Given the description of an element on the screen output the (x, y) to click on. 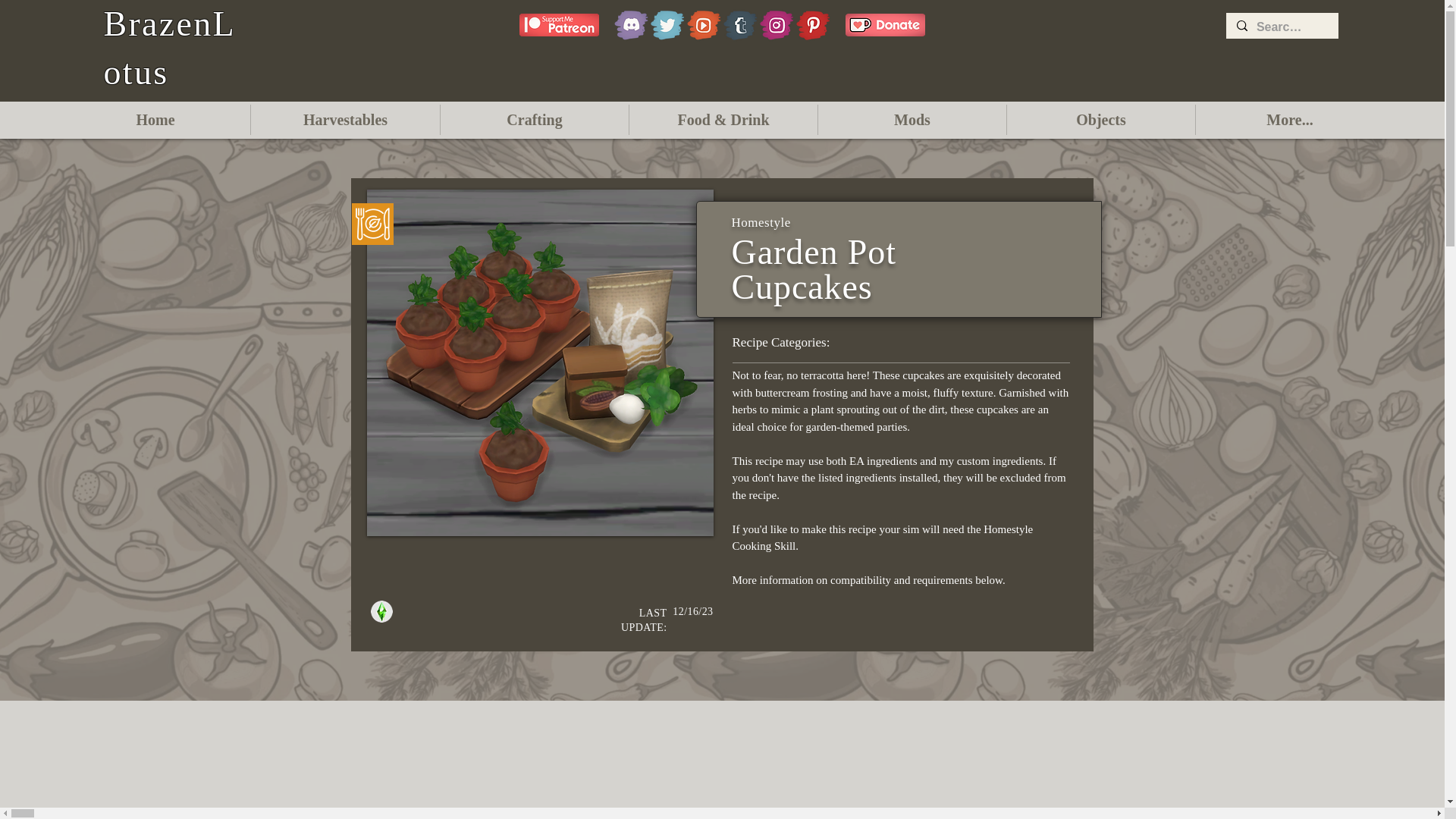
BG - Base Game (380, 611)
Garden Pot Cupcakes (539, 362)
BrazenLotus (168, 47)
Crafting (534, 119)
Vegetarian-Safe (371, 223)
Harvestables (344, 119)
Home (155, 119)
Objects (1101, 119)
Mods (912, 119)
